Given the description of an element on the screen output the (x, y) to click on. 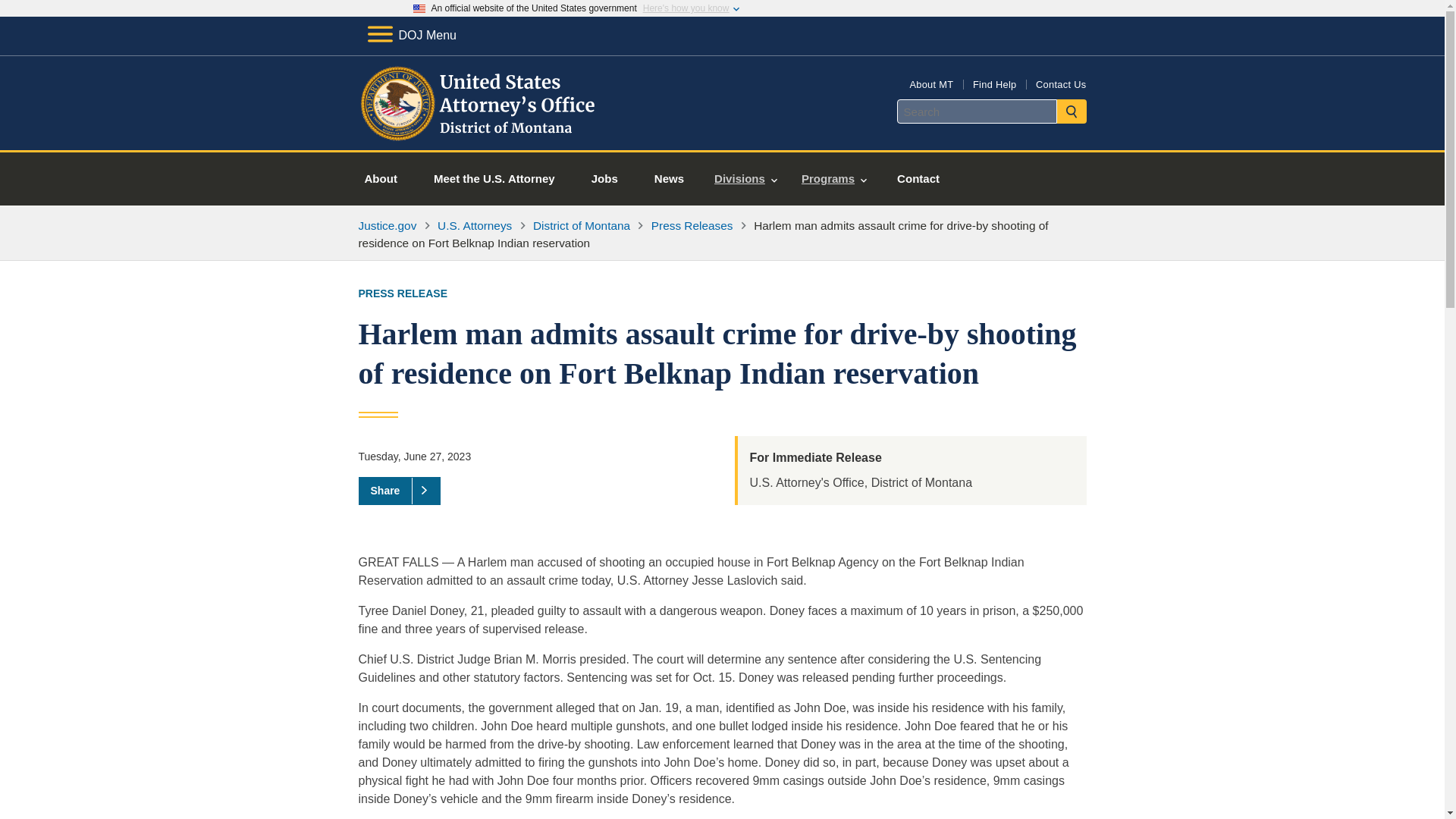
About MT (930, 84)
Jobs (604, 179)
DOJ Menu (411, 35)
District of Montana (581, 225)
Home (481, 132)
Contact Us (1060, 84)
Contact (918, 179)
U.S. Attorneys (475, 225)
Meet the U.S. Attorney (493, 179)
Press Releases (691, 225)
Divisions (745, 179)
Here's how you know (686, 8)
Justice.gov (387, 225)
News (668, 179)
Find Help (994, 84)
